Given the description of an element on the screen output the (x, y) to click on. 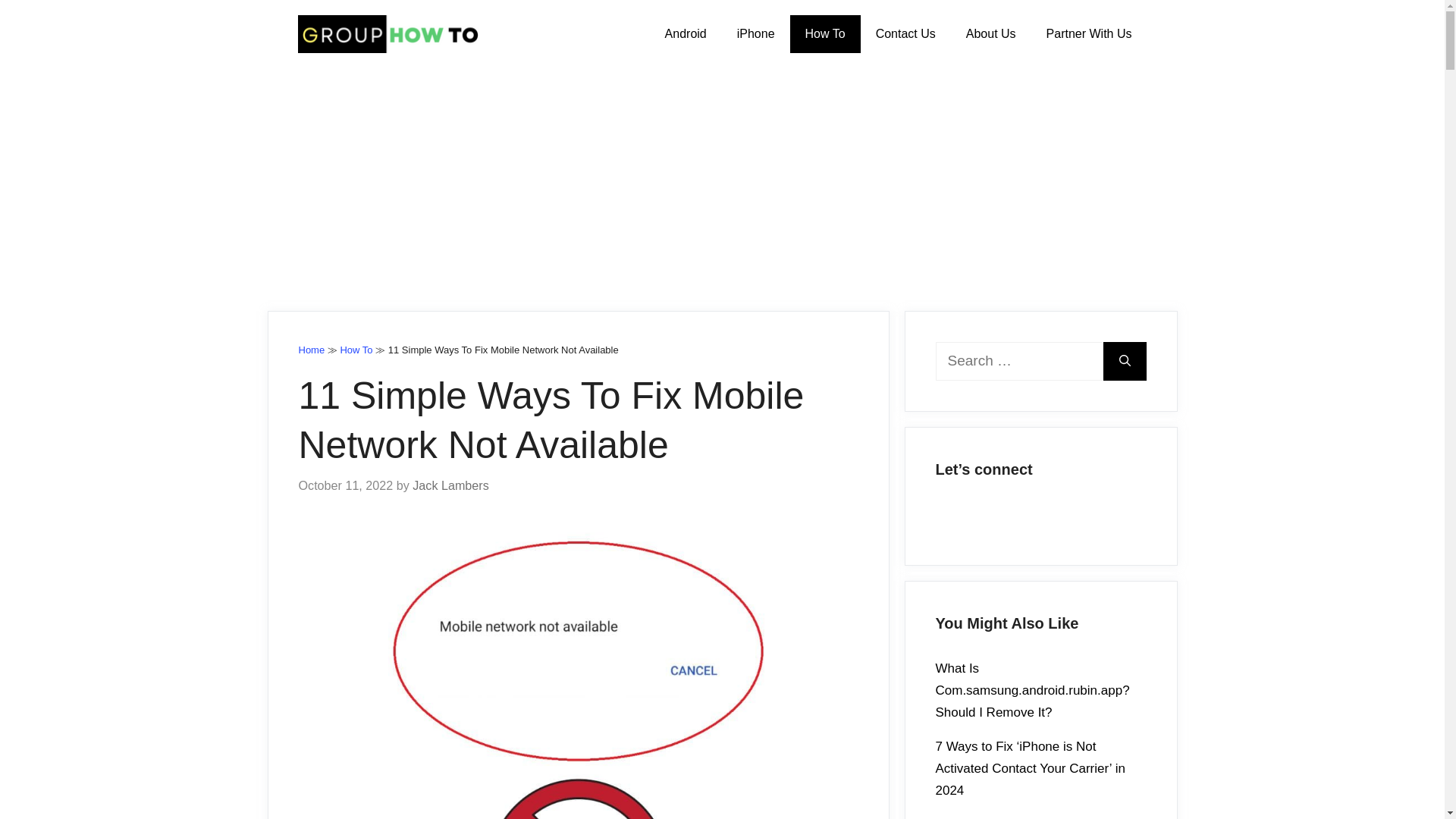
iPhone (756, 34)
Home (311, 349)
Android (685, 34)
Contact Us (905, 34)
About Us (990, 34)
Partner With Us (1088, 34)
View all posts by Jack Lambers (449, 485)
Jack Lambers (449, 485)
How To (825, 34)
